Given the description of an element on the screen output the (x, y) to click on. 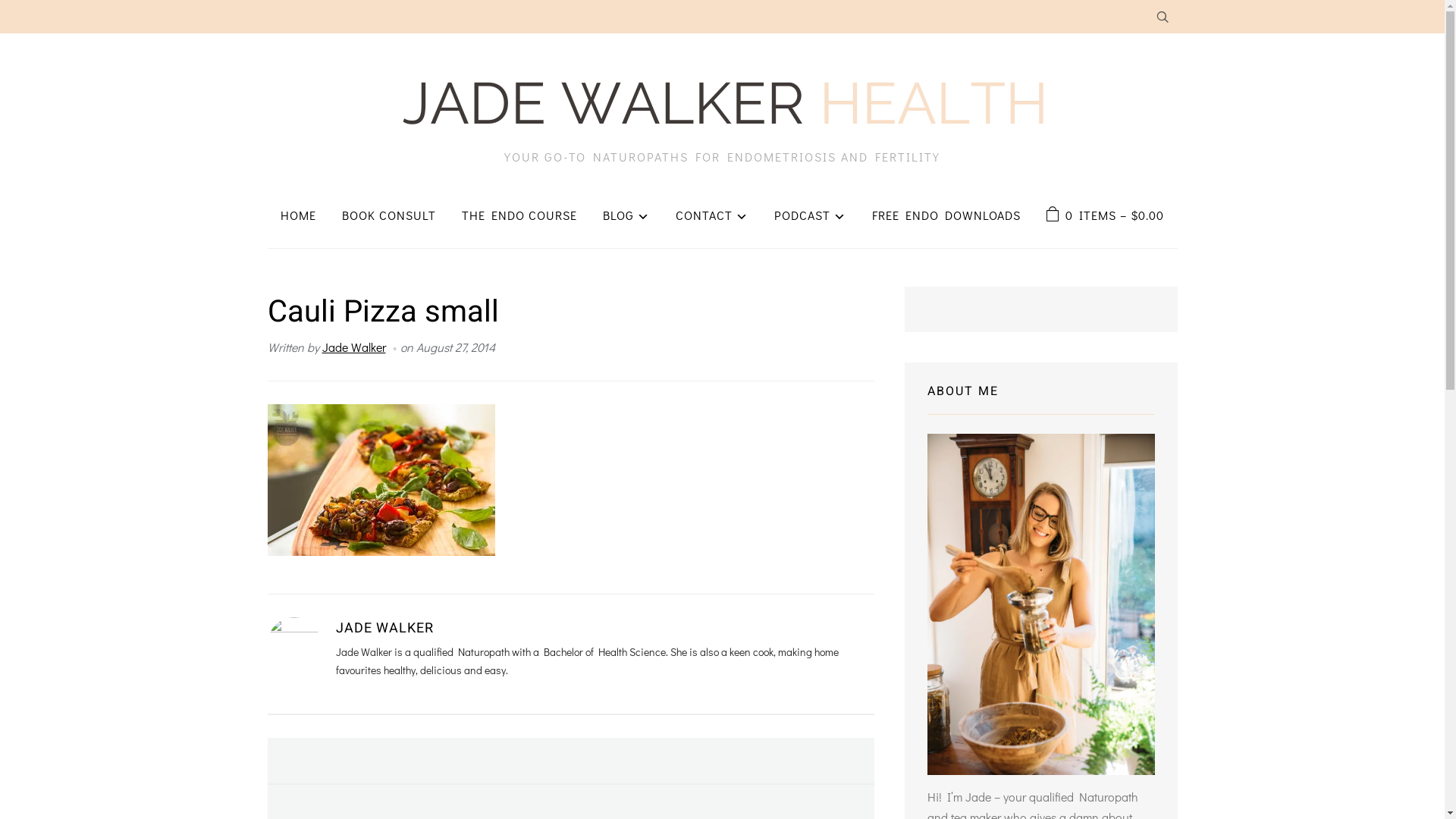
HOME Element type: text (298, 214)
Search Element type: text (1161, 18)
BOOK CONSULT Element type: text (389, 214)
CONTACT Element type: text (711, 214)
THE ENDO COURSE Element type: text (519, 214)
PODCAST Element type: text (810, 214)
Jade Walker Element type: text (353, 346)
FREE ENDO DOWNLOADS Element type: text (946, 214)
BLOG Element type: text (625, 214)
JADE WALKER Element type: text (384, 628)
